Given the description of an element on the screen output the (x, y) to click on. 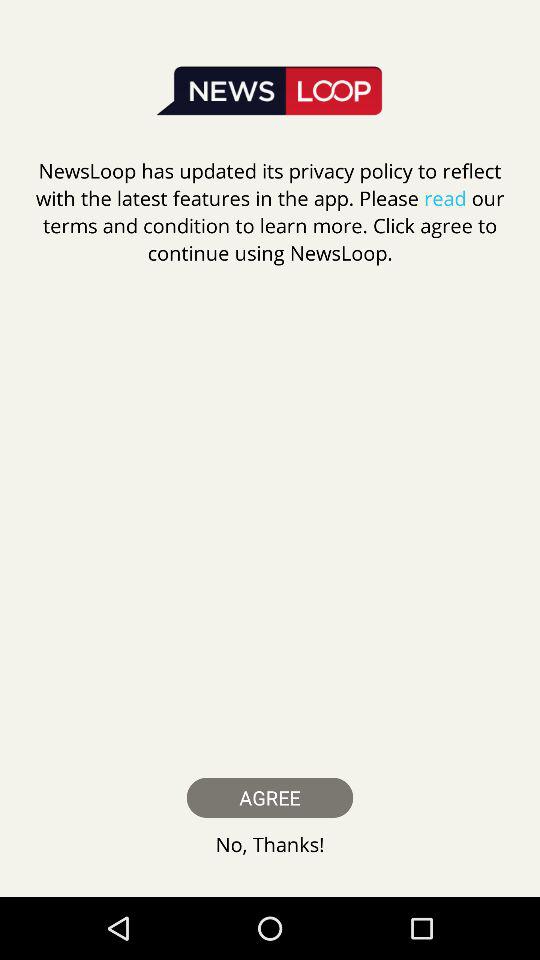
scroll until no, thanks! icon (269, 844)
